Given the description of an element on the screen output the (x, y) to click on. 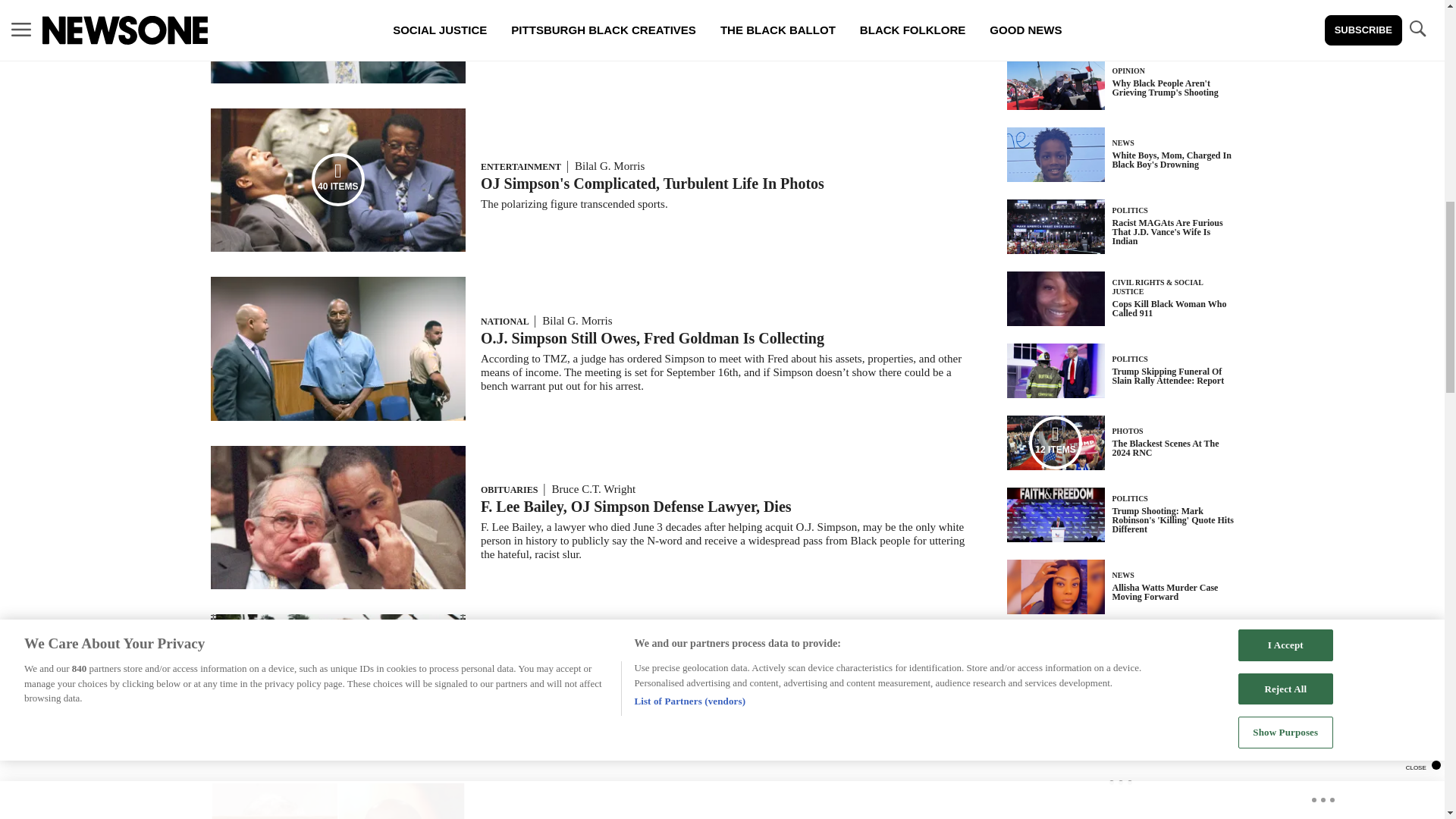
OJ Simpson's Complicated, Turbulent Life In Photos (652, 183)
Media Playlist (1055, 442)
O.J. Simpson Still Owes, Fred Goldman Is Collecting (652, 338)
Bilal G. Morris (576, 320)
POP CULTURE (512, 1)
Bruce C.T. Wright (593, 489)
F. Lee Bailey, OJ Simpson Defense Lawyer, Dies (636, 506)
NATIONAL (504, 321)
Bilal G. Morris (610, 165)
OJ Simpson Says His Ex-Wife's Mother Has Died (641, 681)
ENTERTAINMENT (520, 166)
NATION (498, 665)
Media Playlist (338, 179)
Why Black Folks Were Happy O.J. Got Acquitted (641, 13)
OBITUARIES (508, 489)
